Given the description of an element on the screen output the (x, y) to click on. 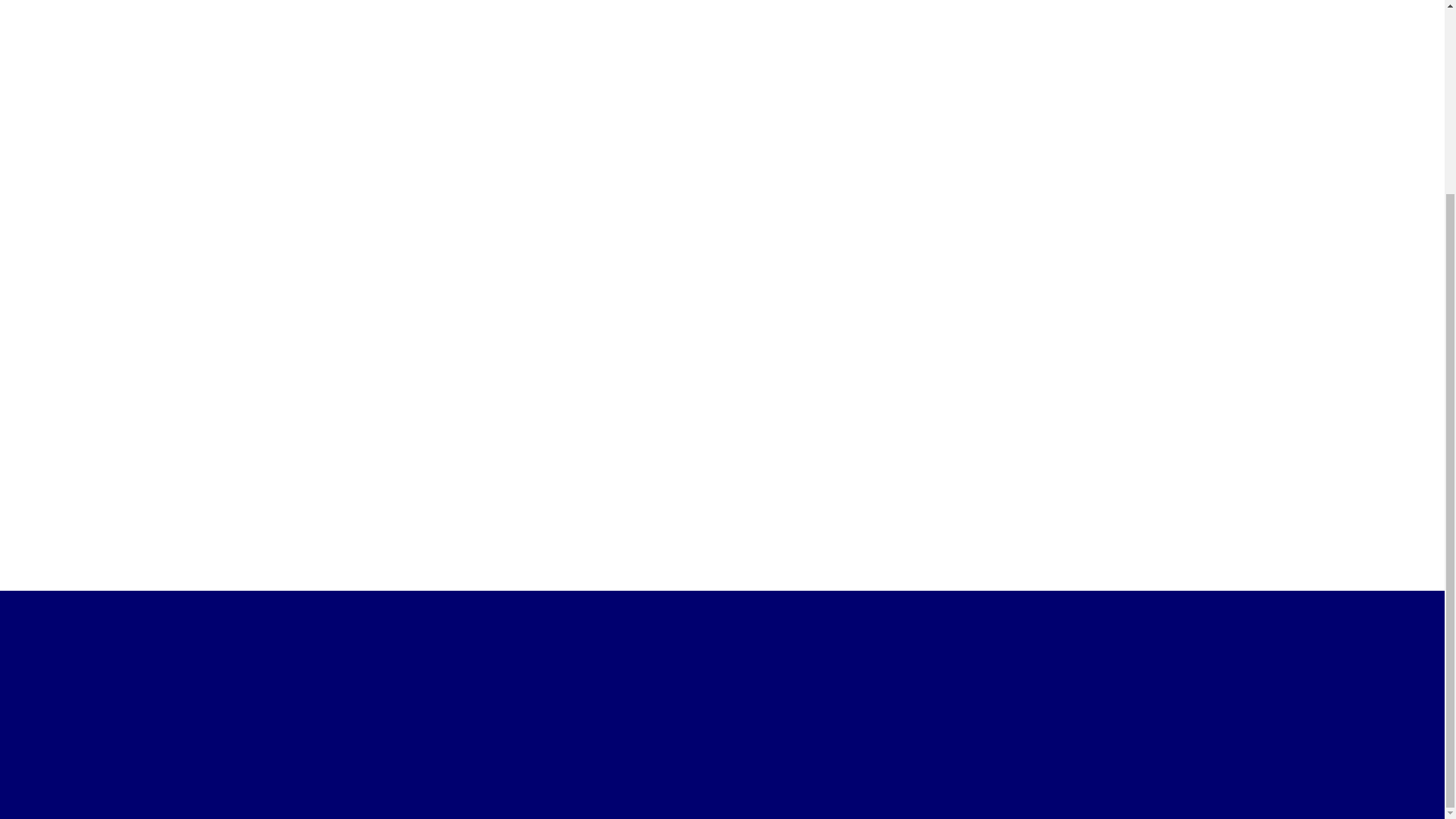
Subscribe (459, 658)
